Given the description of an element on the screen output the (x, y) to click on. 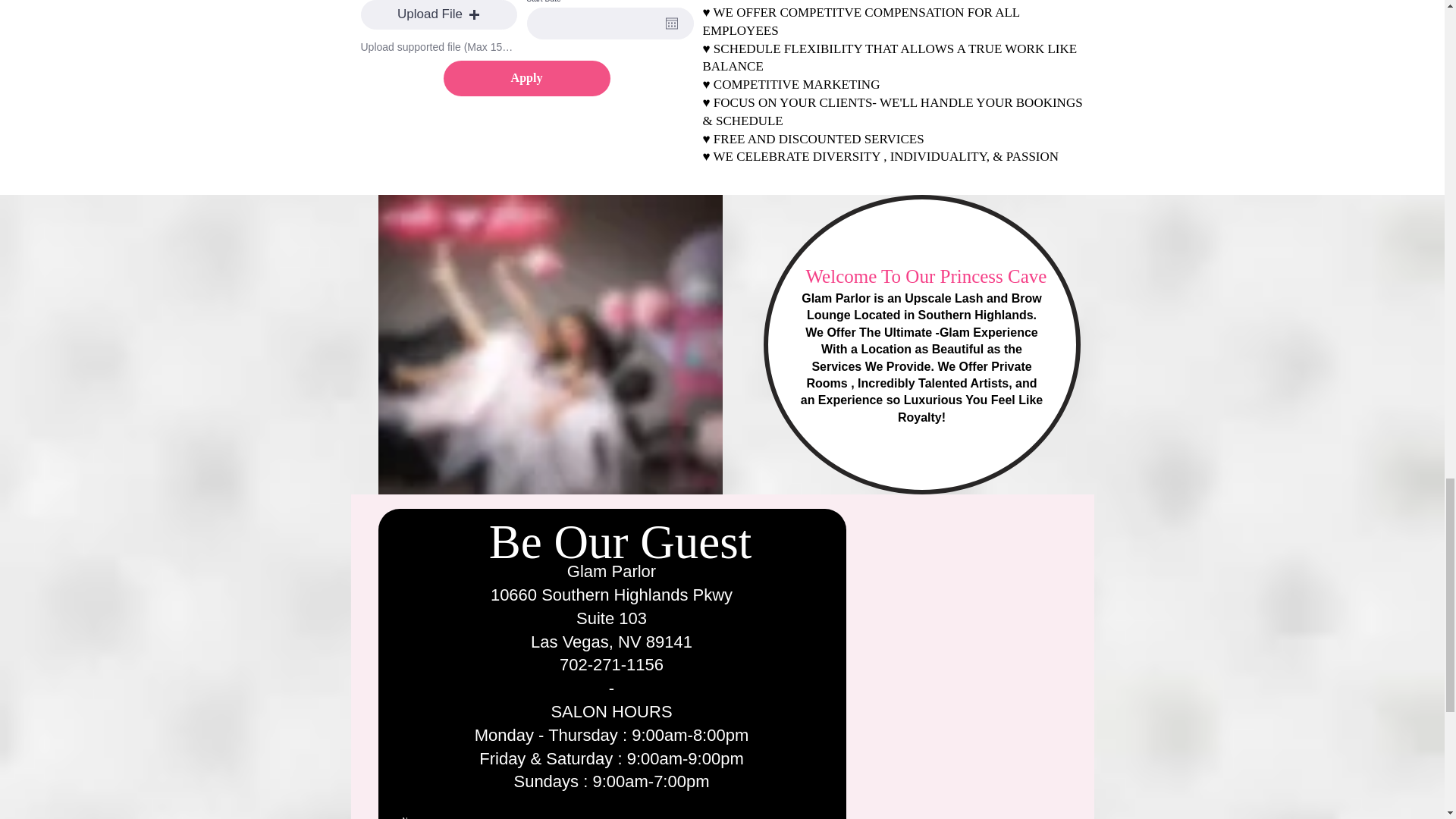
Apply (526, 78)
